Given the description of an element on the screen output the (x, y) to click on. 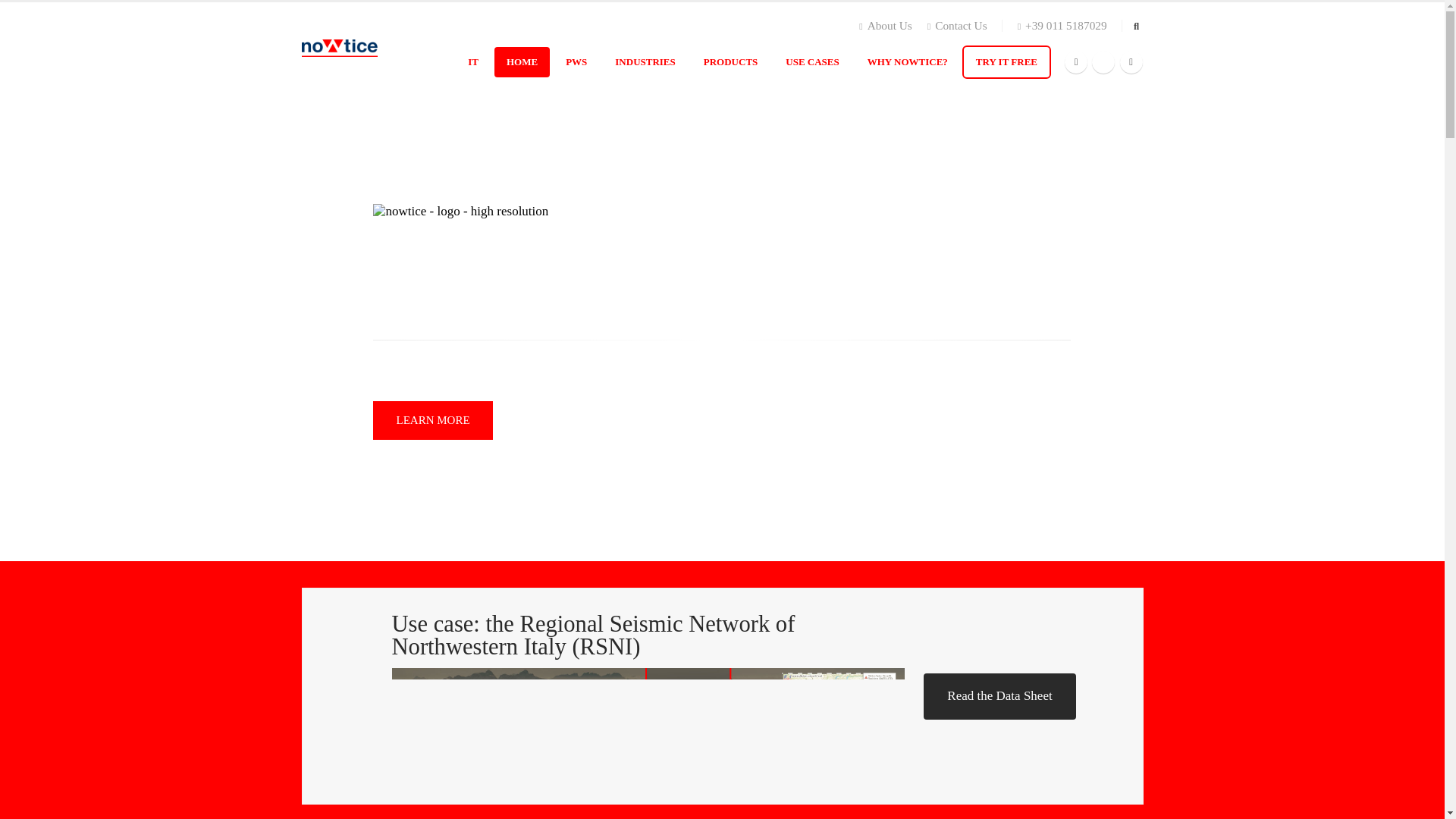
INDUSTRIES (644, 61)
PRODUCTS (730, 61)
HOME (522, 61)
IT (472, 61)
About Us (889, 25)
TRY IT FREE (1006, 61)
Twitter (1103, 61)
USE CASES (811, 61)
Facebook (1075, 61)
Contact Us (957, 25)
